Given the description of an element on the screen output the (x, y) to click on. 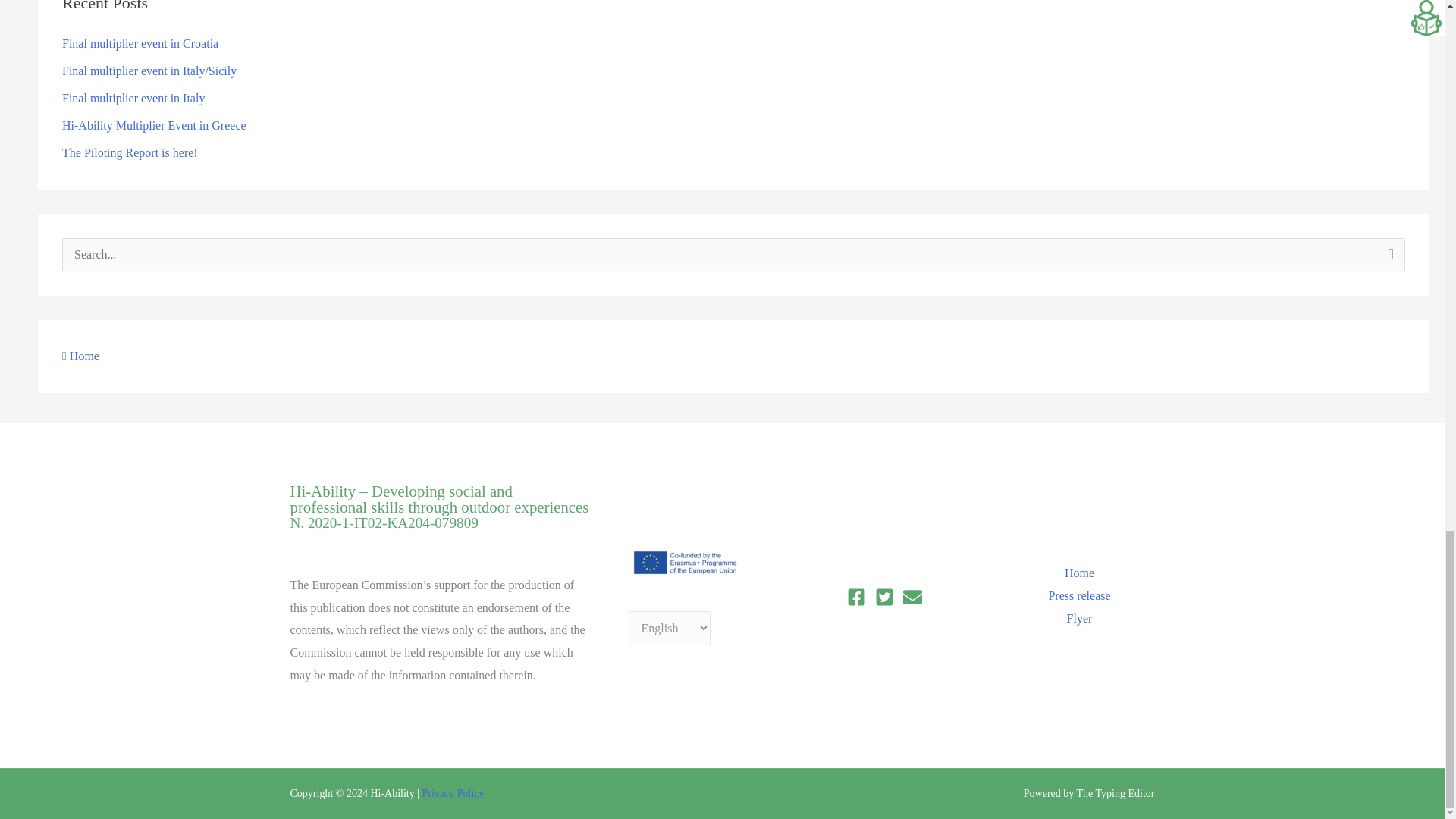
Hi-Ability Multiplier Event in Greece (154, 124)
The Piloting Report is here! (130, 152)
Home (80, 355)
Final multiplier event in Croatia (140, 42)
Final multiplier event in Italy (133, 97)
